Given the description of an element on the screen output the (x, y) to click on. 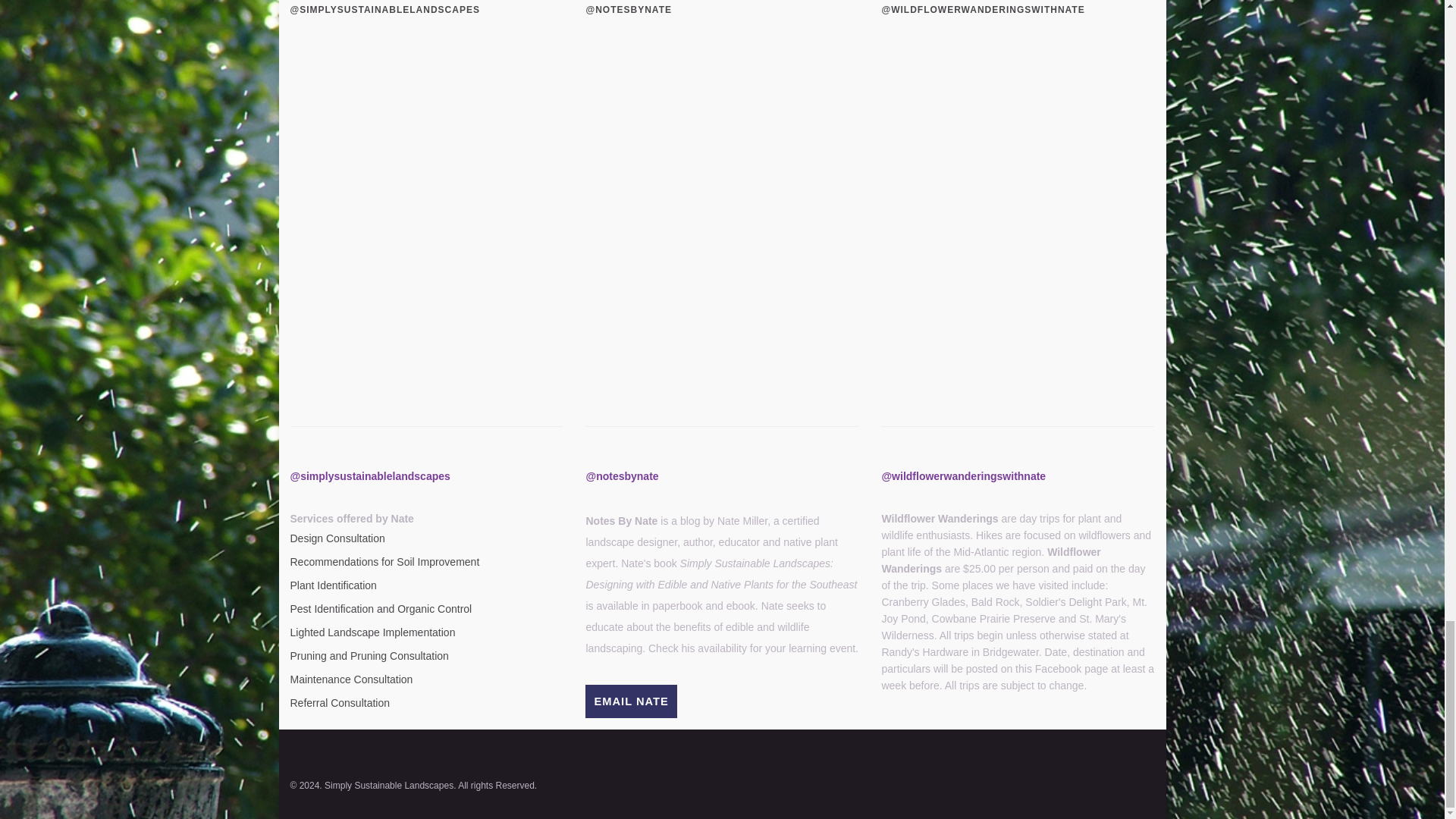
EMAIL NATE (631, 701)
